Given the description of an element on the screen output the (x, y) to click on. 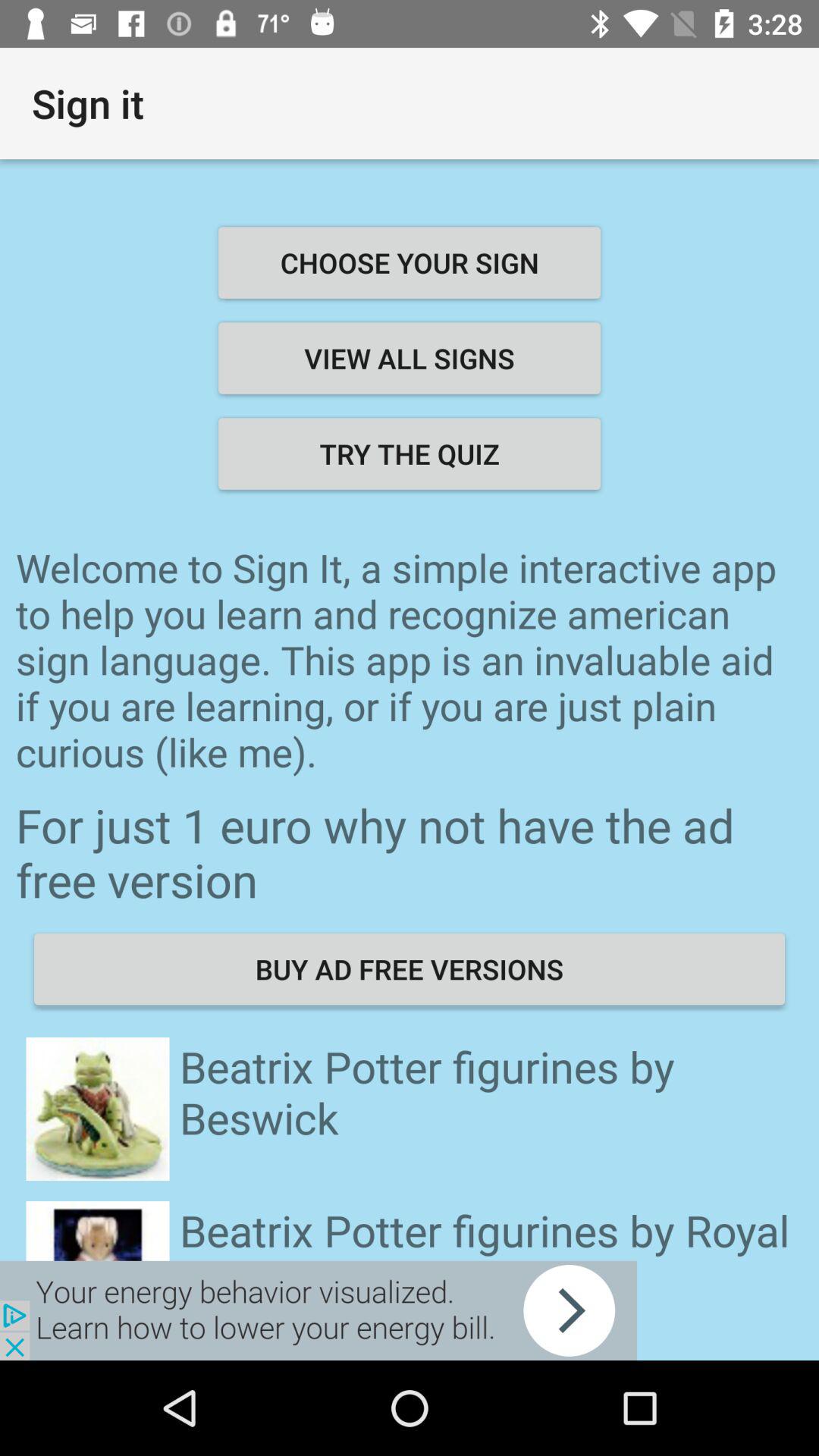
menu open button (318, 1310)
